Given the description of an element on the screen output the (x, y) to click on. 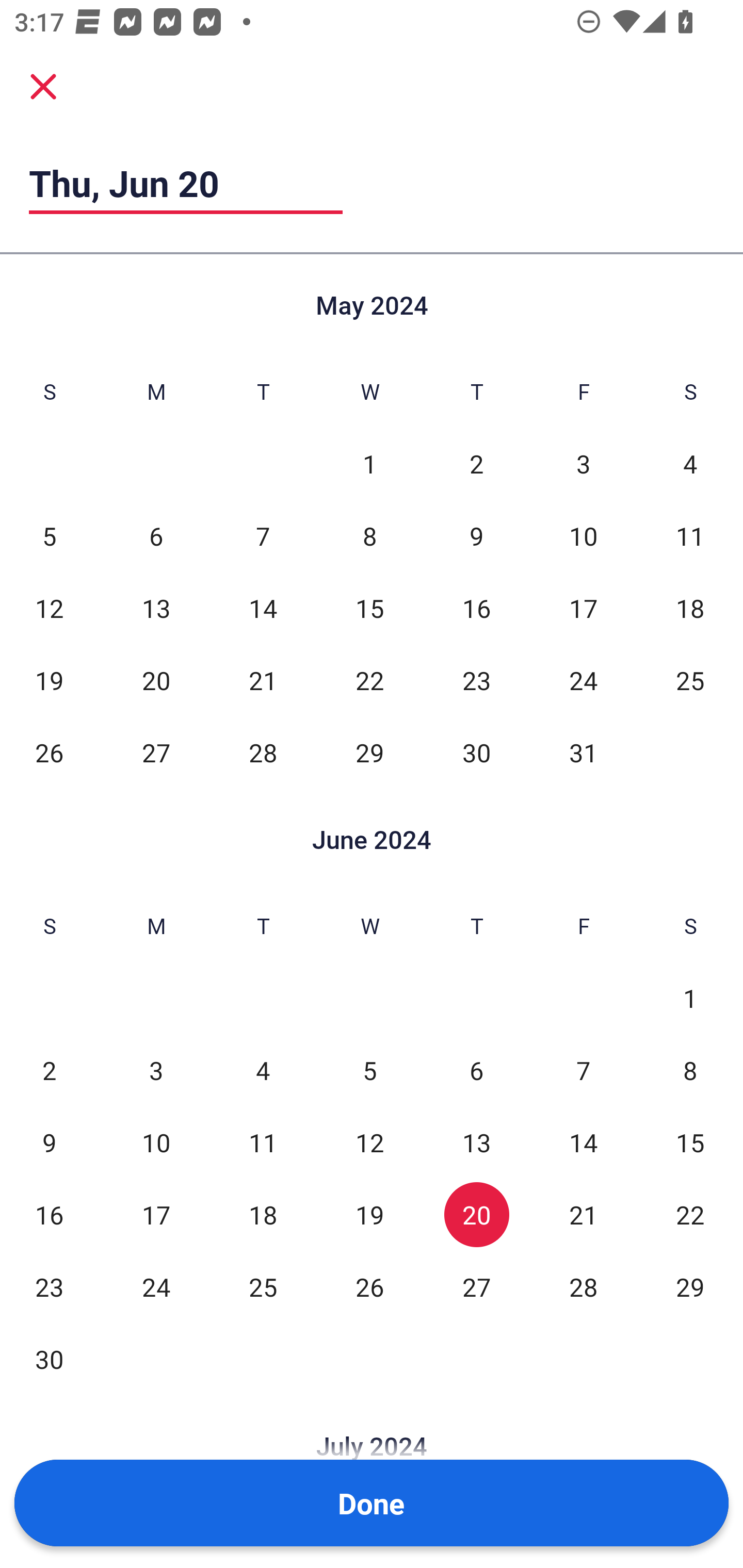
Cancel (43, 86)
Thu, Jun 20 (185, 182)
1 Wed, May 1, Not Selected (369, 464)
2 Thu, May 2, Not Selected (476, 464)
3 Fri, May 3, Not Selected (583, 464)
4 Sat, May 4, Not Selected (690, 464)
5 Sun, May 5, Not Selected (49, 536)
6 Mon, May 6, Not Selected (156, 536)
7 Tue, May 7, Not Selected (263, 536)
8 Wed, May 8, Not Selected (369, 536)
9 Thu, May 9, Not Selected (476, 536)
10 Fri, May 10, Not Selected (583, 536)
11 Sat, May 11, Not Selected (690, 536)
12 Sun, May 12, Not Selected (49, 608)
13 Mon, May 13, Not Selected (156, 608)
14 Tue, May 14, Not Selected (263, 608)
15 Wed, May 15, Not Selected (369, 608)
16 Thu, May 16, Not Selected (476, 608)
17 Fri, May 17, Not Selected (583, 608)
18 Sat, May 18, Not Selected (690, 608)
19 Sun, May 19, Not Selected (49, 680)
20 Mon, May 20, Not Selected (156, 680)
21 Tue, May 21, Not Selected (263, 680)
22 Wed, May 22, Not Selected (369, 680)
23 Thu, May 23, Not Selected (476, 680)
24 Fri, May 24, Not Selected (583, 680)
25 Sat, May 25, Not Selected (690, 680)
26 Sun, May 26, Not Selected (49, 752)
27 Mon, May 27, Not Selected (156, 752)
28 Tue, May 28, Not Selected (263, 752)
29 Wed, May 29, Not Selected (369, 752)
30 Thu, May 30, Not Selected (476, 752)
31 Fri, May 31, Not Selected (583, 752)
1 Sat, Jun 1, Not Selected (690, 997)
2 Sun, Jun 2, Not Selected (49, 1070)
3 Mon, Jun 3, Not Selected (156, 1070)
4 Tue, Jun 4, Not Selected (263, 1070)
5 Wed, Jun 5, Not Selected (369, 1070)
6 Thu, Jun 6, Not Selected (476, 1070)
7 Fri, Jun 7, Not Selected (583, 1070)
8 Sat, Jun 8, Not Selected (690, 1070)
9 Sun, Jun 9, Not Selected (49, 1143)
10 Mon, Jun 10, Not Selected (156, 1143)
11 Tue, Jun 11, Not Selected (263, 1143)
12 Wed, Jun 12, Not Selected (369, 1143)
13 Thu, Jun 13, Not Selected (476, 1143)
14 Fri, Jun 14, Not Selected (583, 1143)
15 Sat, Jun 15, Not Selected (690, 1143)
16 Sun, Jun 16, Not Selected (49, 1215)
17 Mon, Jun 17, Not Selected (156, 1215)
18 Tue, Jun 18, Not Selected (263, 1215)
19 Wed, Jun 19, Not Selected (369, 1215)
20 Thu, Jun 20, Selected (476, 1215)
21 Fri, Jun 21, Not Selected (583, 1215)
22 Sat, Jun 22, Not Selected (690, 1215)
23 Sun, Jun 23, Not Selected (49, 1287)
24 Mon, Jun 24, Not Selected (156, 1287)
25 Tue, Jun 25, Not Selected (263, 1287)
26 Wed, Jun 26, Not Selected (369, 1287)
27 Thu, Jun 27, Not Selected (476, 1287)
28 Fri, Jun 28, Not Selected (583, 1287)
29 Sat, Jun 29, Not Selected (690, 1287)
30 Sun, Jun 30, Not Selected (49, 1359)
Done Button Done (371, 1502)
